Given the description of an element on the screen output the (x, y) to click on. 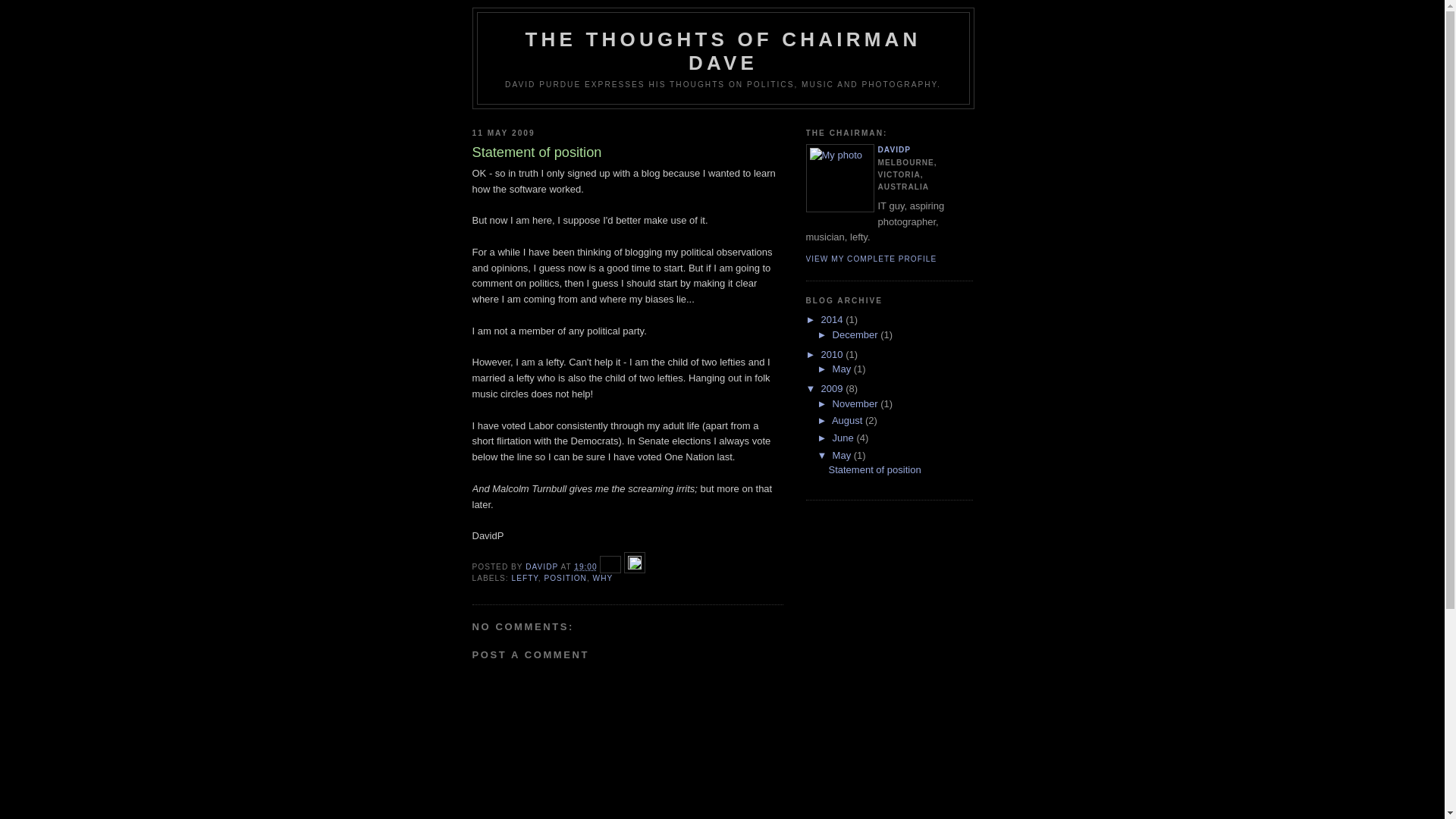
19:00 Element type: text (585, 566)
December Element type: text (856, 334)
May Element type: text (842, 368)
November Element type: text (856, 403)
2014 Element type: text (833, 319)
DAVIDP Element type: text (542, 566)
POSITION Element type: text (564, 578)
2009 Element type: text (833, 388)
VIEW MY COMPLETE PROFILE Element type: text (870, 258)
THE THOUGHTS OF CHAIRMAN DAVE Element type: text (722, 51)
WHY Element type: text (603, 578)
LEFTY Element type: text (524, 578)
Statement of position Element type: text (874, 469)
DAVIDP Element type: text (894, 149)
Email Post Element type: hover (611, 566)
Edit Post Element type: hover (634, 566)
2010 Element type: text (833, 354)
June Element type: text (844, 437)
August Element type: text (848, 420)
May Element type: text (842, 455)
